Given the description of an element on the screen output the (x, y) to click on. 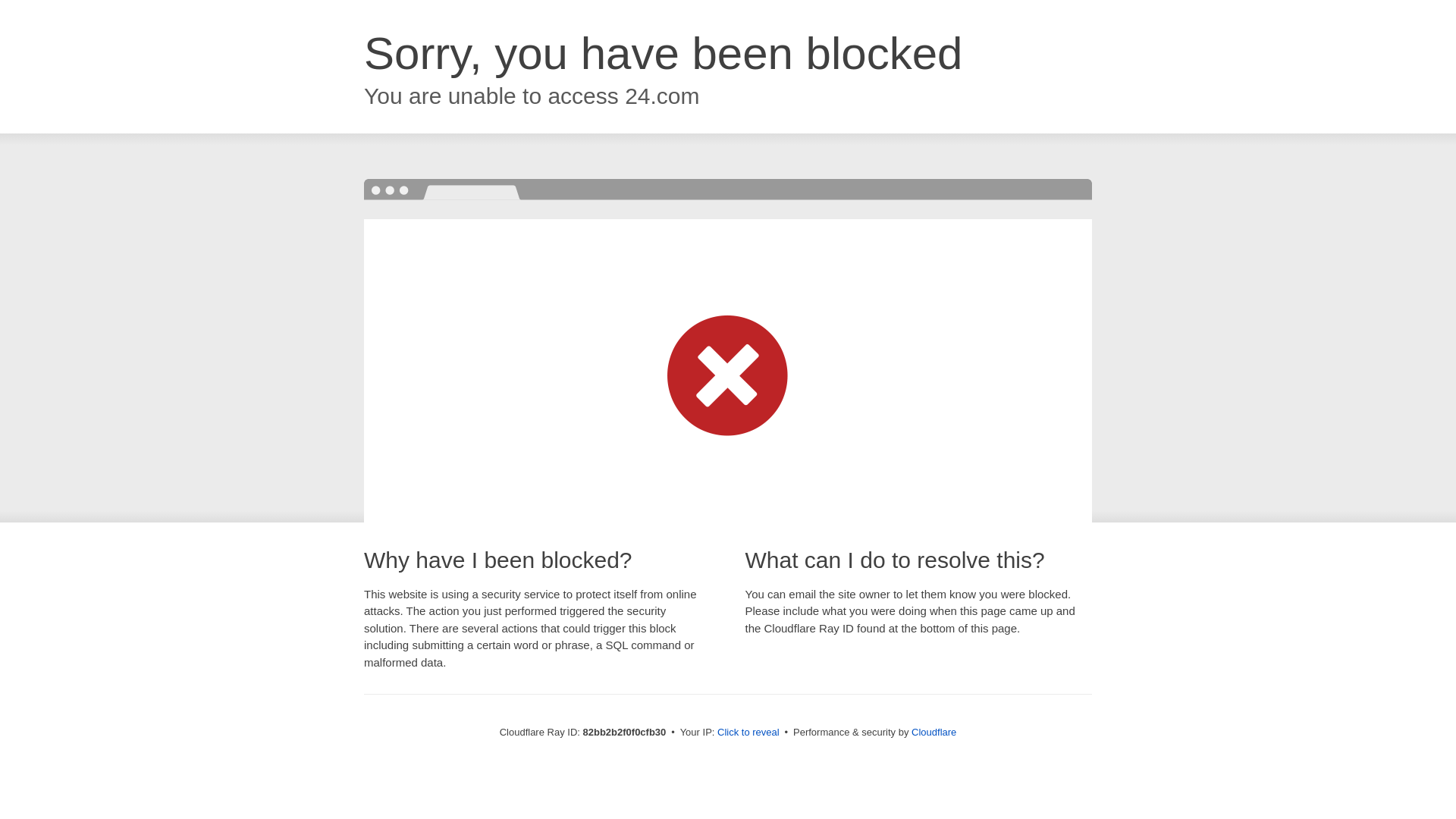
Click to reveal Element type: text (748, 732)
Cloudflare Element type: text (933, 731)
